Given the description of an element on the screen output the (x, y) to click on. 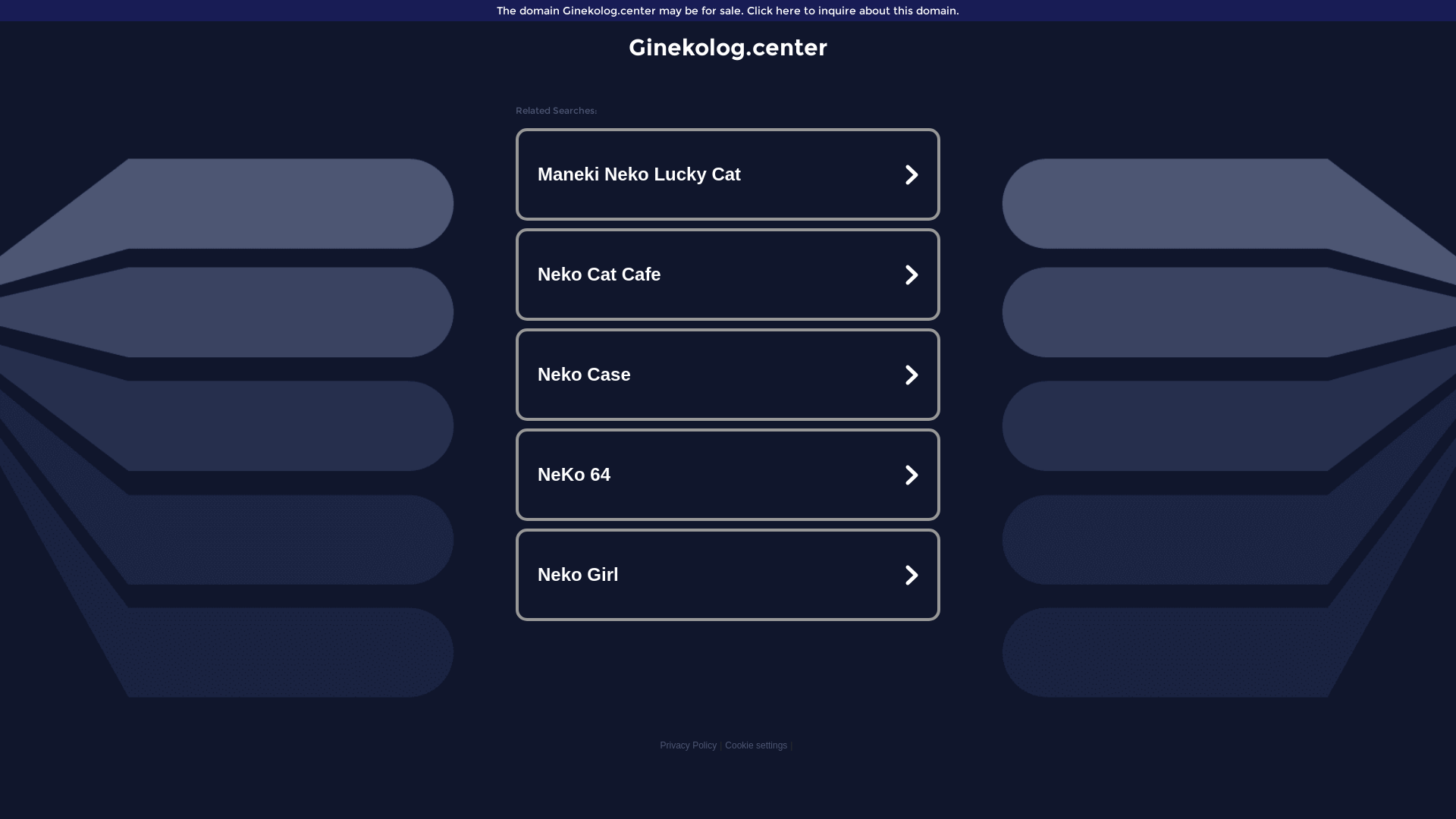
Ginekolog.center Element type: text (727, 47)
Neko Case Element type: text (727, 374)
Maneki Neko Lucky Cat Element type: text (727, 174)
Privacy Policy Element type: text (687, 745)
NeKo 64 Element type: text (727, 474)
Neko Girl Element type: text (727, 574)
Neko Cat Cafe Element type: text (727, 274)
Cookie settings Element type: text (755, 745)
